Given the description of an element on the screen output the (x, y) to click on. 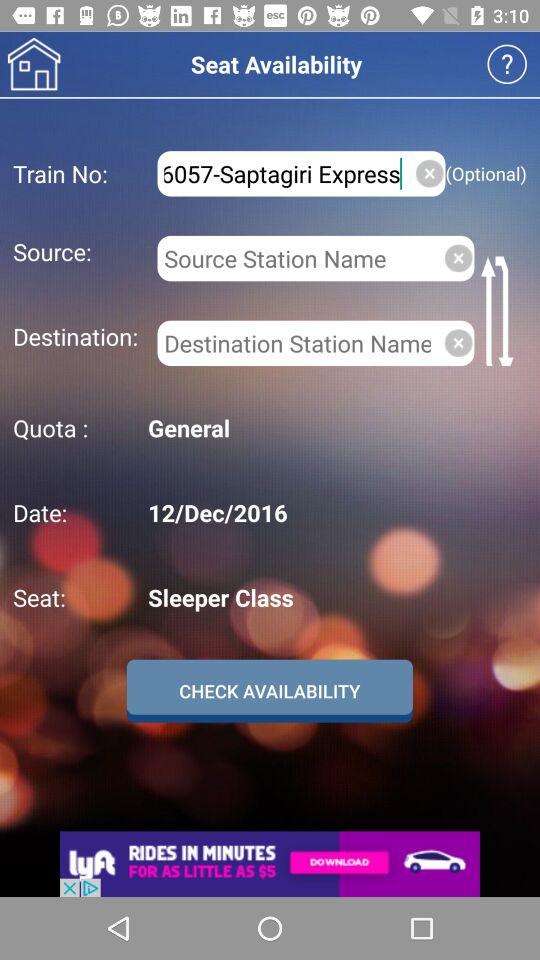
go to advertisement link (270, 864)
